Given the description of an element on the screen output the (x, y) to click on. 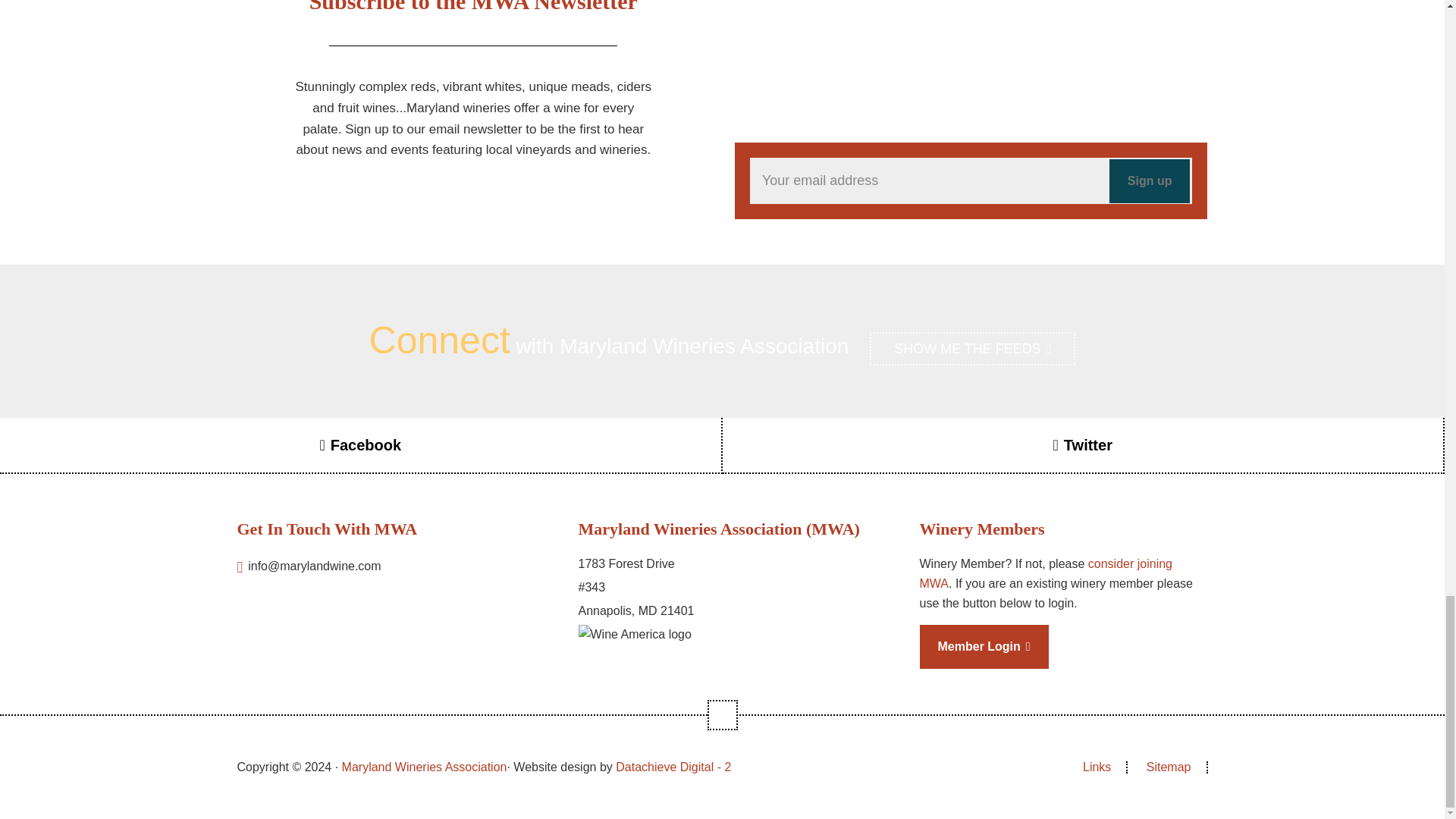
Sign up (1150, 180)
Maryland Wineries Association (424, 766)
